Given the description of an element on the screen output the (x, y) to click on. 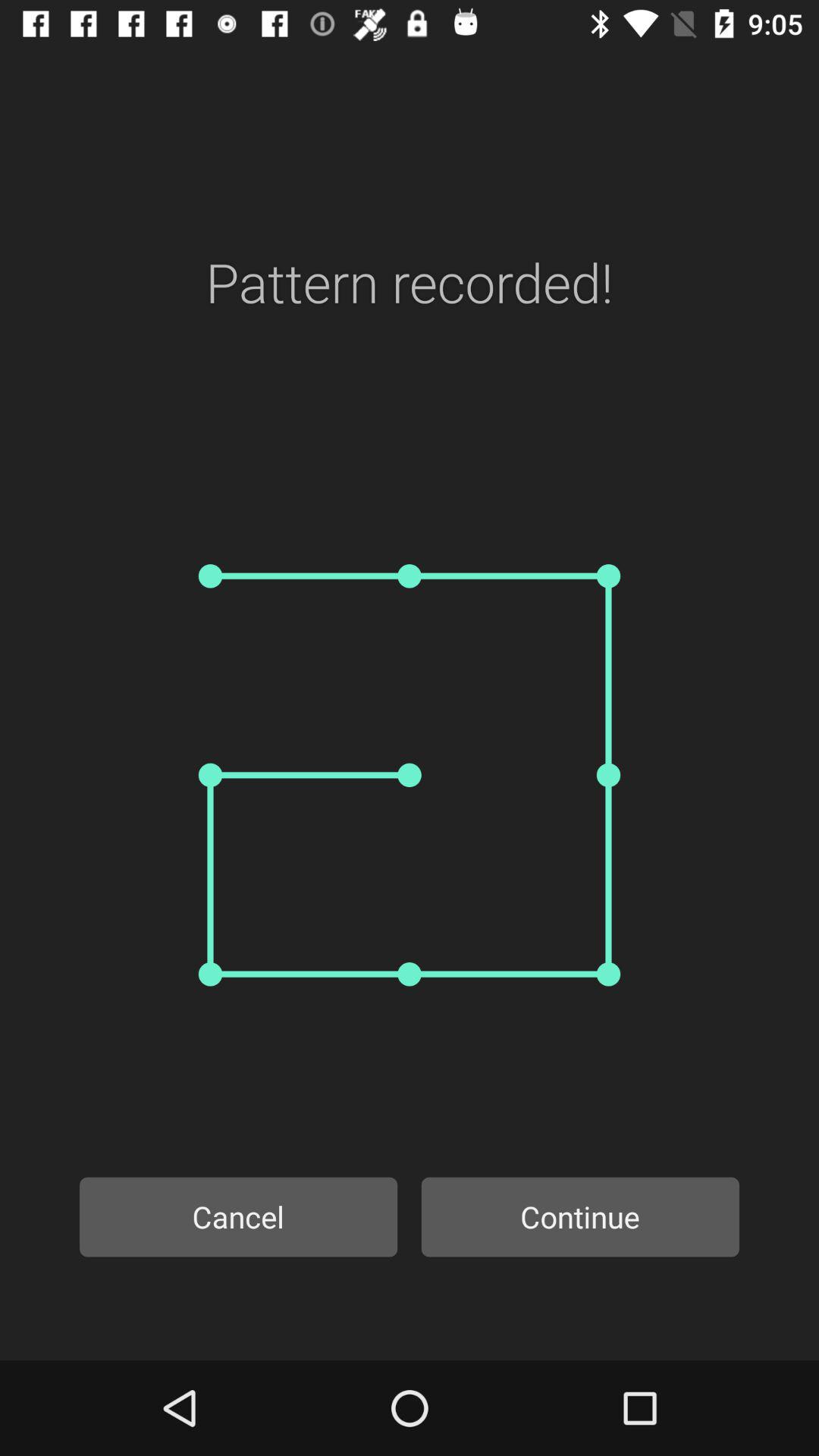
open the icon below pattern recorded! icon (409, 774)
